Given the description of an element on the screen output the (x, y) to click on. 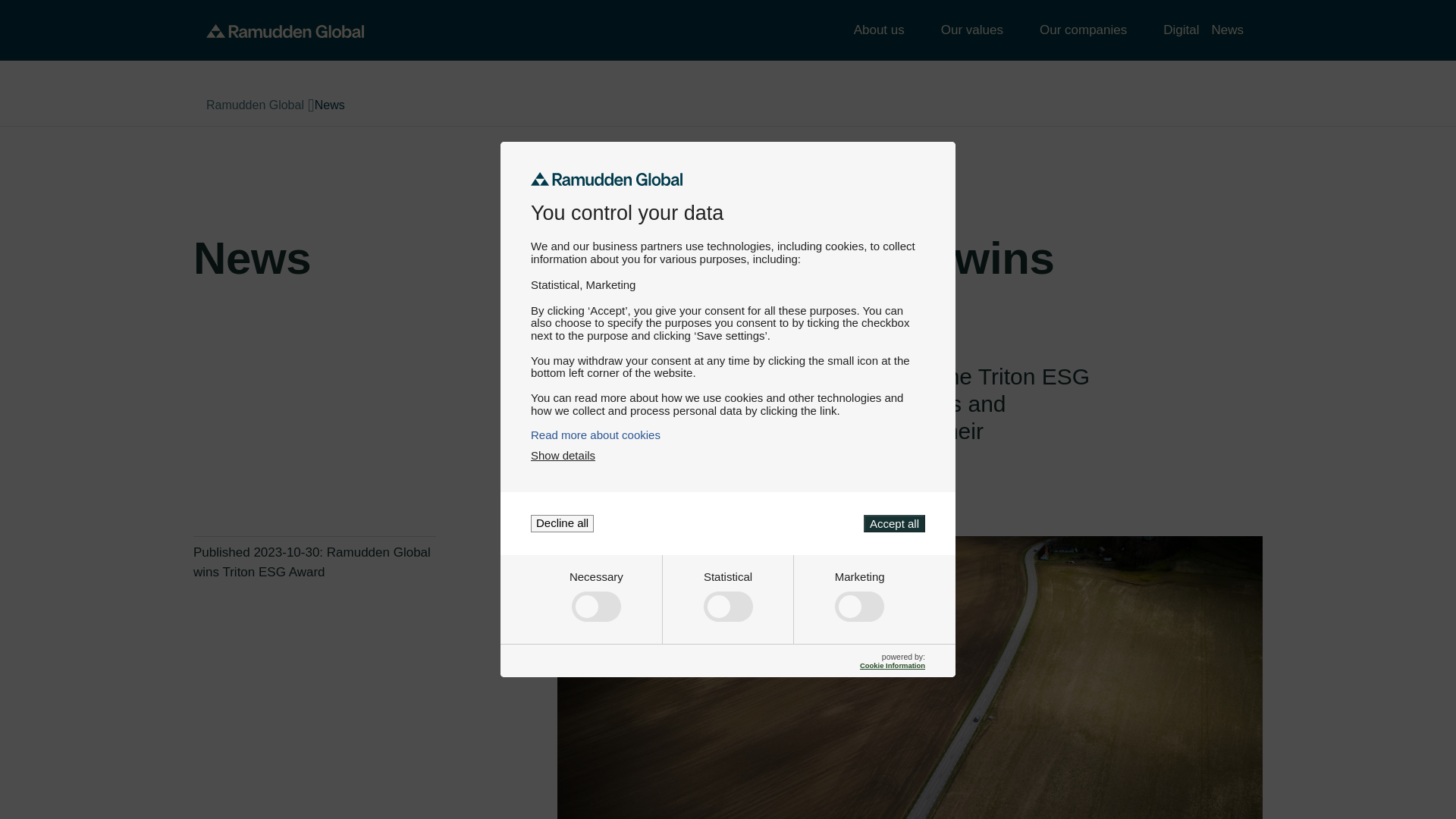
Read more about cookies (727, 434)
Ramudden Global (285, 30)
Show details (563, 454)
Accept all (893, 523)
Cookie Information (892, 664)
Decline all (562, 523)
